Given the description of an element on the screen output the (x, y) to click on. 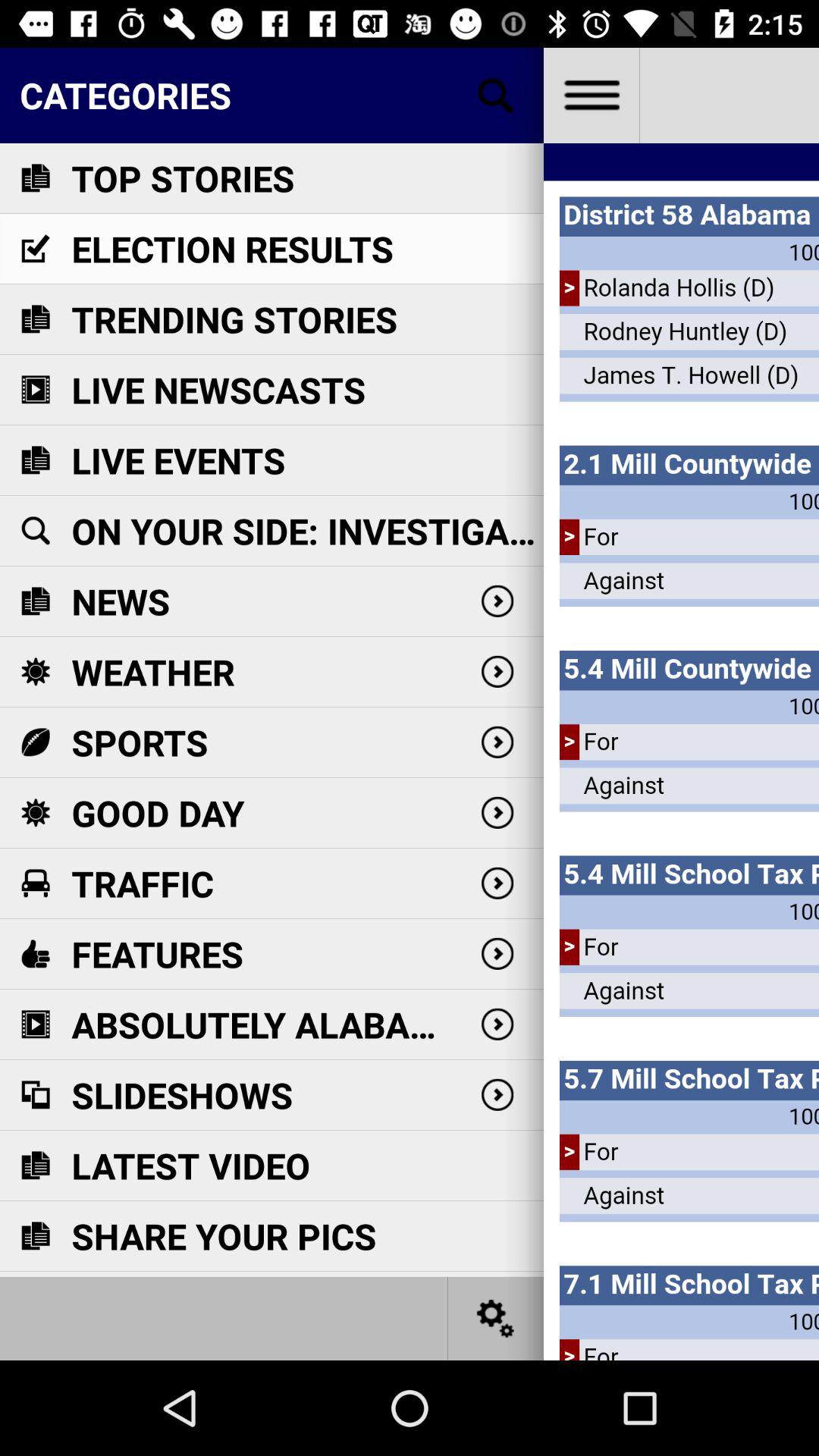
toggle open menu (591, 95)
